Given the description of an element on the screen output the (x, y) to click on. 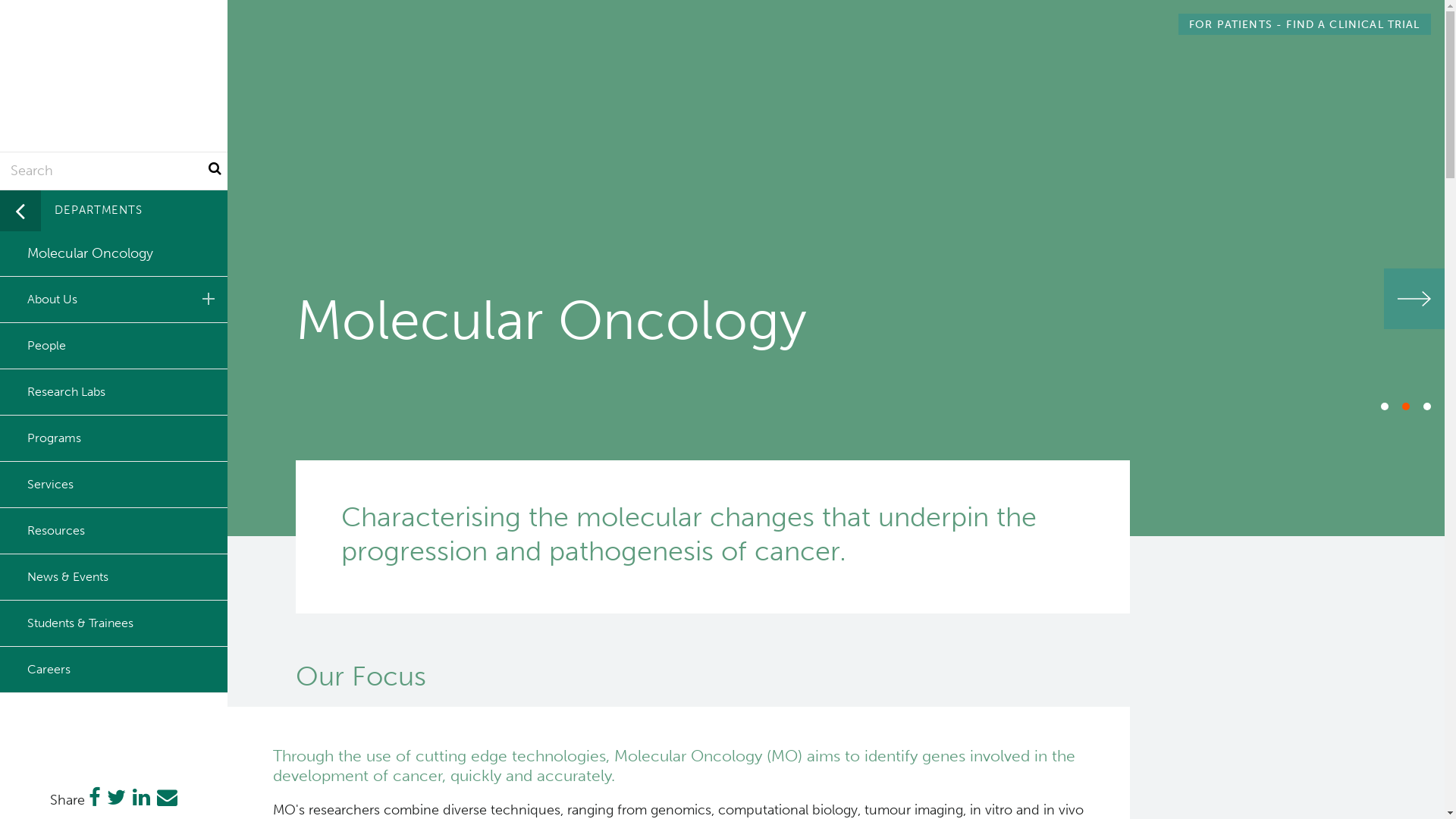
Resources Element type: text (113, 530)
About Us Element type: text (113, 299)
Enter the terms you wish to search for. Element type: hover (113, 170)
Skip to main content Element type: text (0, 0)
News & Events Element type: text (113, 576)
FOR PATIENTS - FIND A CLINICAL TRIAL Element type: text (1304, 23)
DEPARTMENTS Element type: text (113, 210)
Careers Element type: text (113, 669)
Students & Trainees Element type: text (113, 622)
Services Element type: text (113, 484)
Molecular Oncology Element type: text (113, 253)
Research Labs Element type: text (113, 391)
People Element type: text (113, 345)
Programs Element type: text (113, 437)
